Given the description of an element on the screen output the (x, y) to click on. 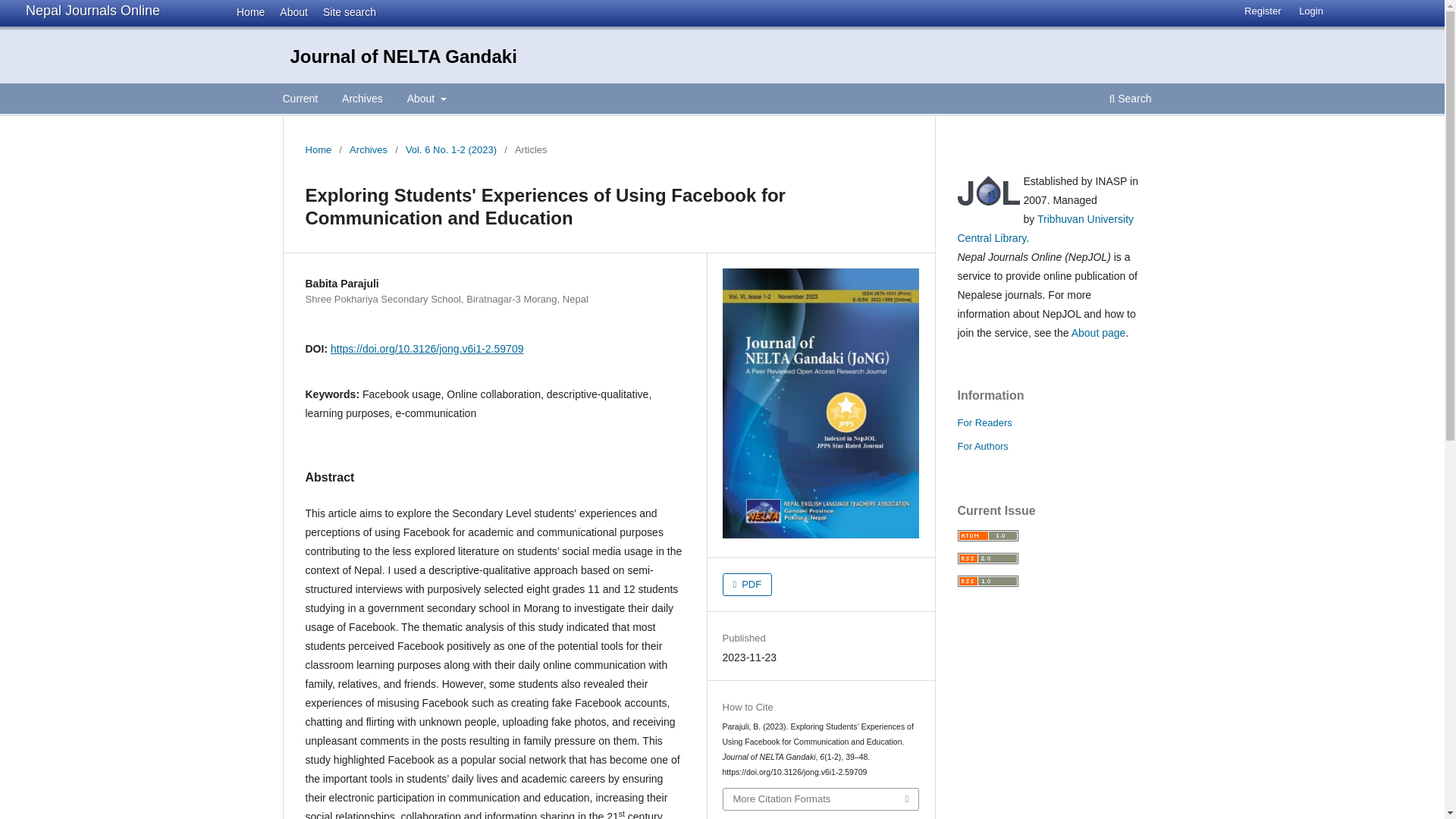
Home (245, 11)
About (426, 99)
More Citation Formats (820, 798)
Site search (344, 11)
PDF (747, 584)
Login (1310, 11)
Current (300, 99)
Search (1129, 99)
Home (317, 150)
About (289, 11)
Journal of NELTA Gandaki (402, 56)
Nepal Journals Online (93, 10)
Archives (362, 99)
Archives (368, 150)
Register (1262, 11)
